Given the description of an element on the screen output the (x, y) to click on. 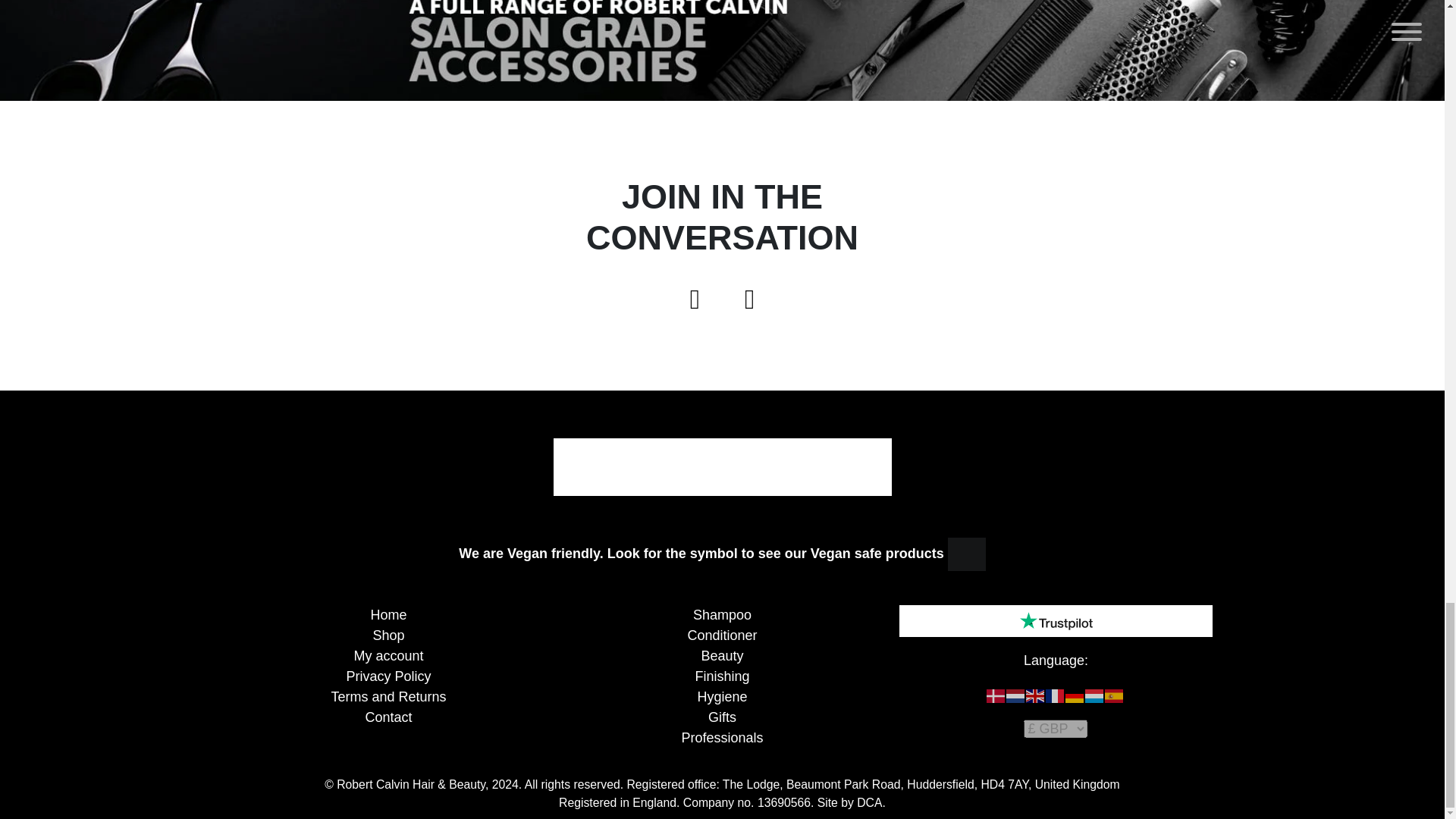
French (1055, 694)
Spanish (1114, 694)
Dutch (1016, 694)
English (1035, 694)
Danish (996, 694)
Luxembourgish (1094, 694)
Customer reviews powered by Trustpilot (1055, 620)
German (1074, 694)
